Given the description of an element on the screen output the (x, y) to click on. 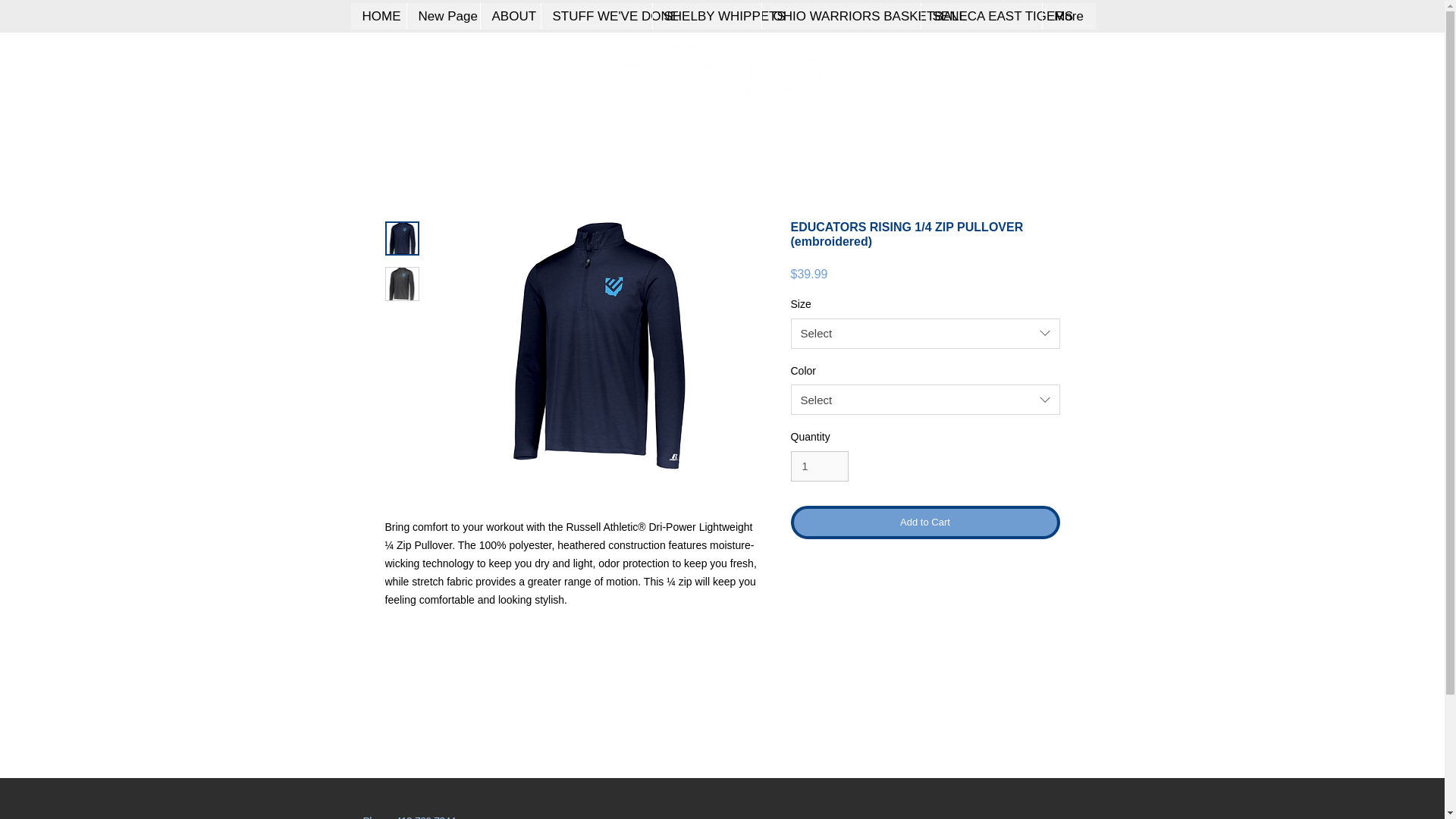
ABOUT (509, 16)
1 (818, 466)
SENECA EAST TIGERS (981, 16)
OHIO WARRIORS BASKETBALL (840, 16)
STUFF WE'VE DONE (595, 16)
HOME (378, 16)
Untitled-5.jpg (715, 71)
Cart (1026, 55)
New Page (443, 16)
SHELBY WHIPPETS (706, 16)
